Given the description of an element on the screen output the (x, y) to click on. 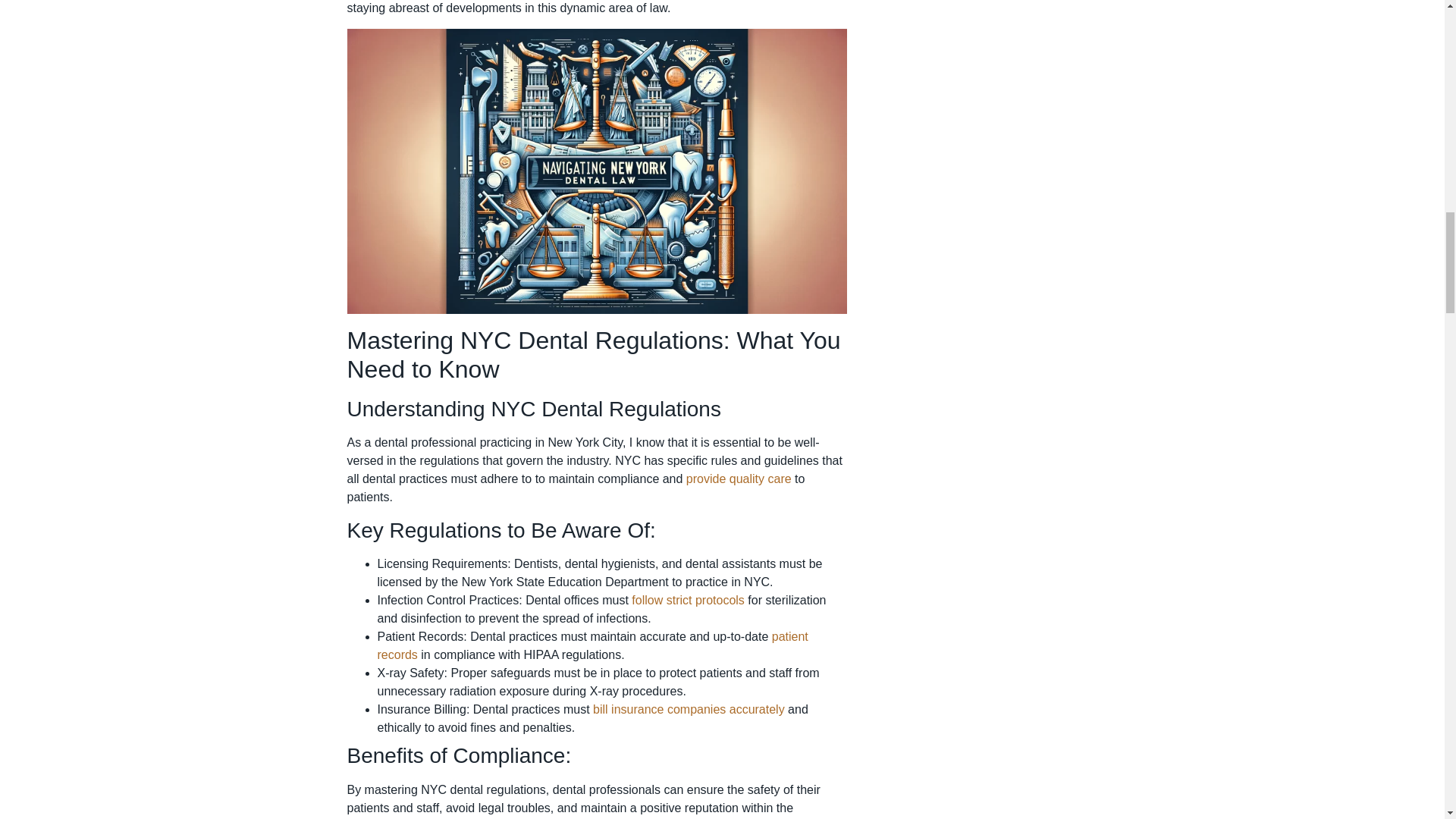
follow strict protocols (687, 599)
bill insurance companies accurately (688, 708)
Navigating New York Dental Law: A Guide (688, 708)
Navigating Legal Requirements for Dental Practices (592, 644)
provide quality care (738, 478)
patient records (592, 644)
